Given the description of an element on the screen output the (x, y) to click on. 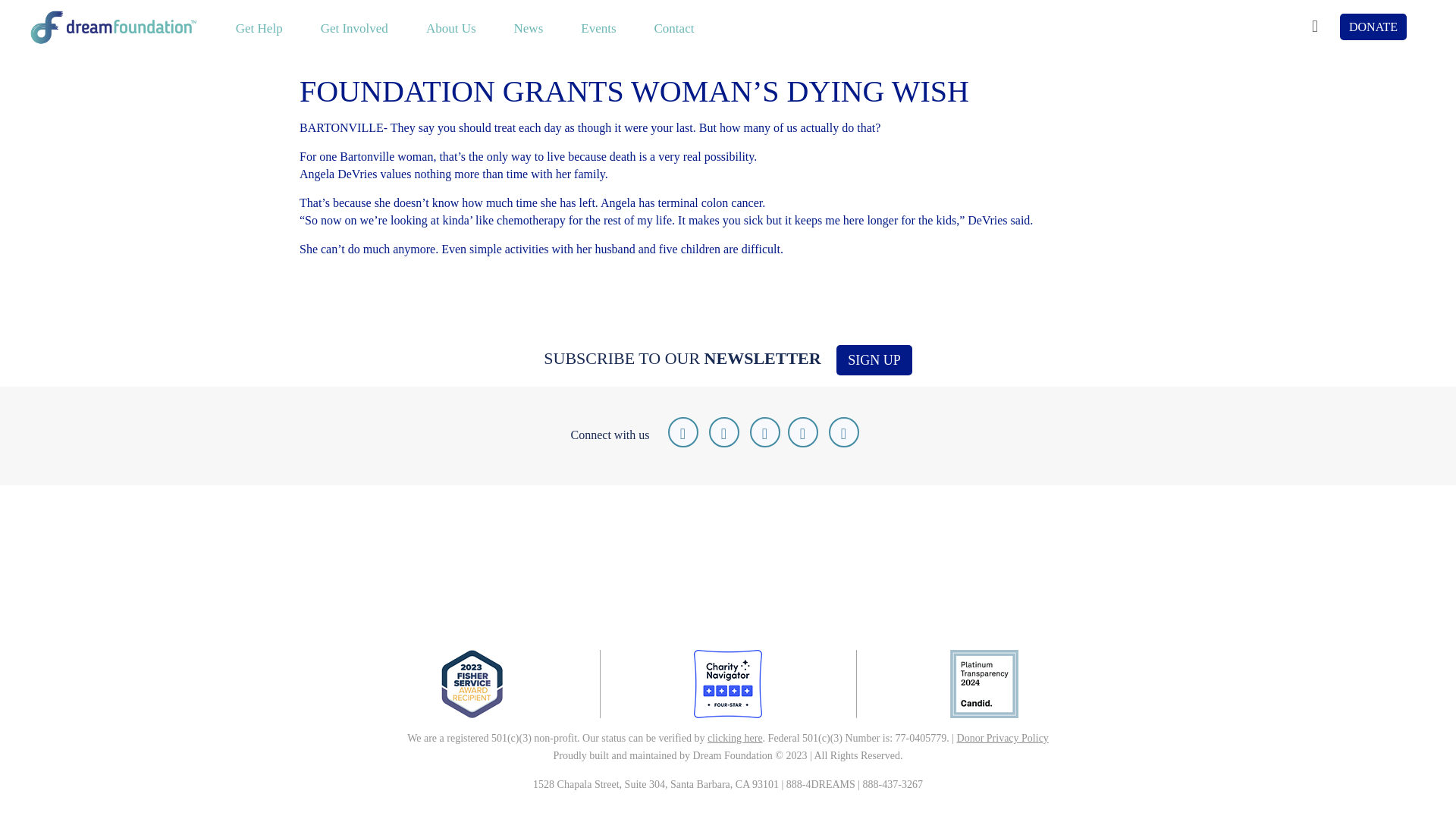
Get Involved (354, 26)
About Us (451, 26)
Get Help (258, 26)
News (528, 26)
Events (598, 26)
